Given the description of an element on the screen output the (x, y) to click on. 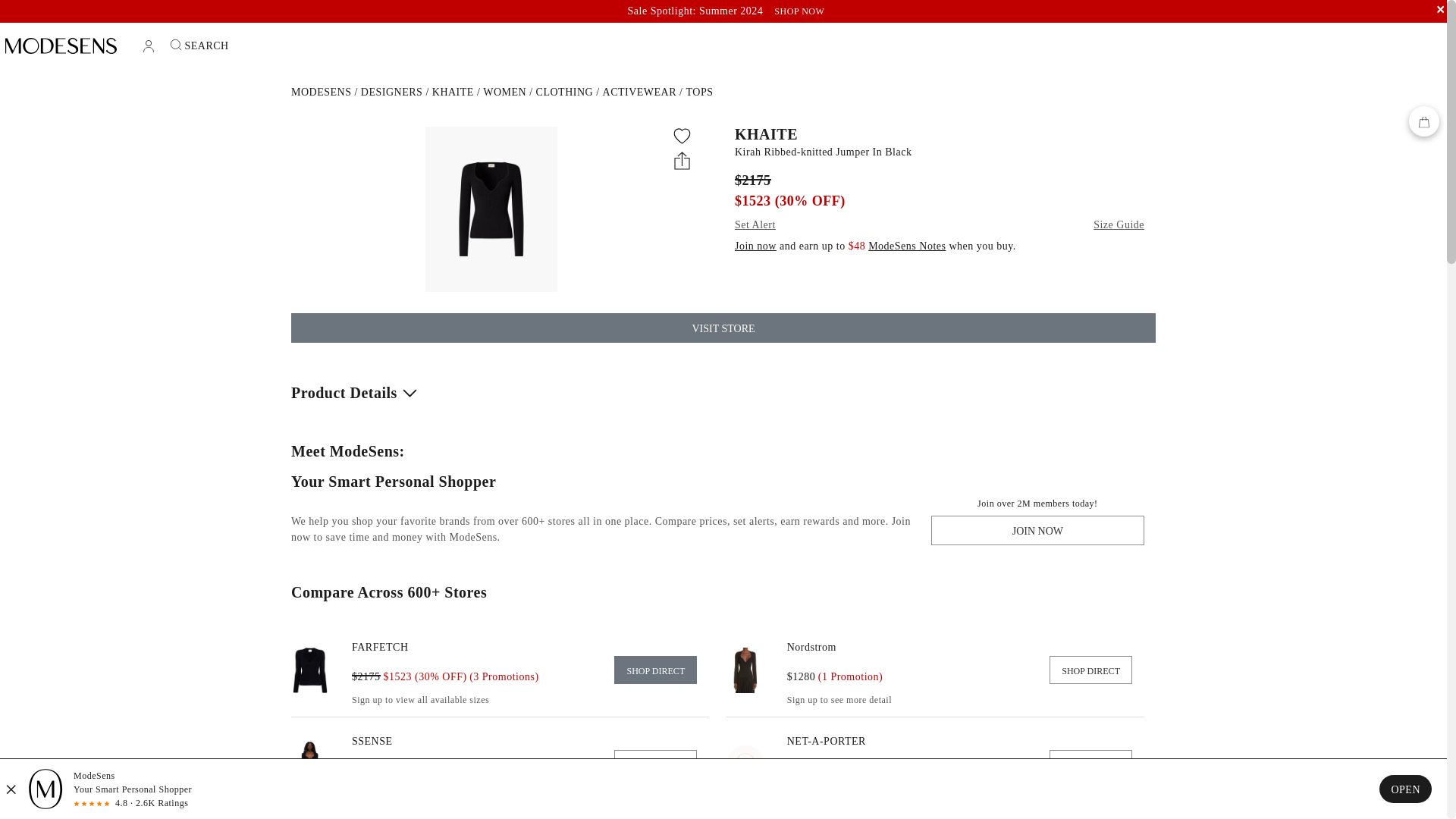
Add to shopping lists (681, 135)
Khaite (453, 91)
Learn more about ModeSens membership (905, 245)
Khaite Activewear for Women (639, 91)
OPEN (1404, 788)
Khaite Clothing for Women (564, 91)
Khaite Women (504, 91)
Khaite Tops for Women (699, 91)
ModeSens (320, 91)
Designers (392, 91)
Kirah Ribbed-knitted Jumper In Black (939, 151)
KHAITE (939, 133)
Share with Friends (681, 159)
